Given the description of an element on the screen output the (x, y) to click on. 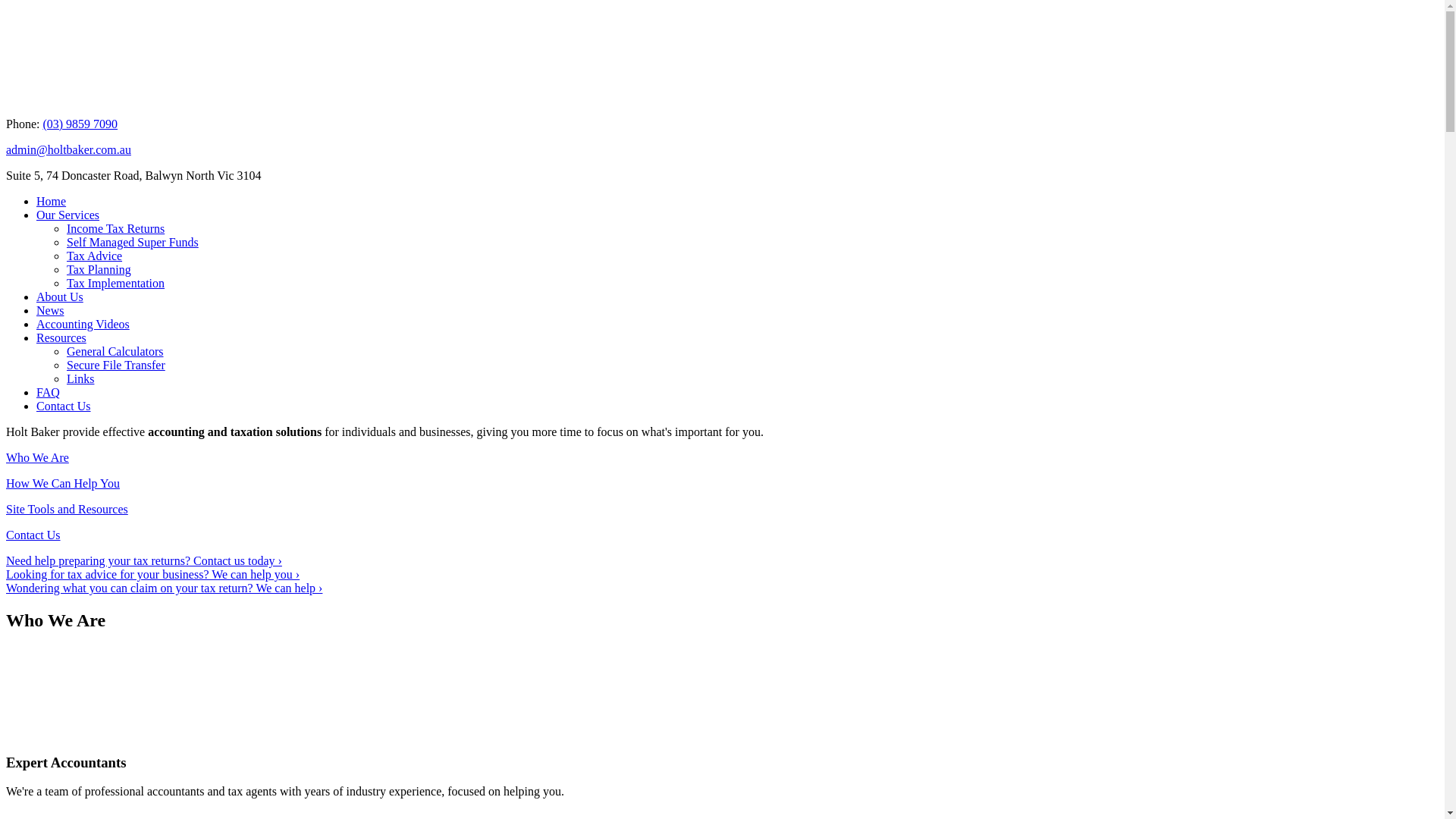
Contact Us Element type: text (722, 535)
(03) 9859 7090 Element type: text (79, 123)
Tax Planning Element type: text (98, 269)
Secure File Transfer Element type: text (115, 364)
Site Tools and Resources Element type: text (722, 509)
How We Can Help You Element type: text (722, 483)
FAQ Element type: text (47, 391)
Who We Are Element type: text (722, 457)
Self Managed Super Funds Element type: text (132, 241)
Tax Advice Element type: text (94, 255)
News Element type: text (49, 310)
Home Element type: text (50, 200)
Resources Element type: text (61, 337)
Accounting Videos Element type: text (82, 323)
Links Element type: text (80, 378)
About Us Element type: text (59, 296)
Income Tax Returns Element type: text (115, 228)
General Calculators Element type: text (114, 351)
Contact Us Element type: text (63, 405)
admin@holtbaker.com.au Element type: text (68, 149)
Our Services Element type: text (67, 214)
Tax Implementation Element type: text (115, 282)
